Given the description of an element on the screen output the (x, y) to click on. 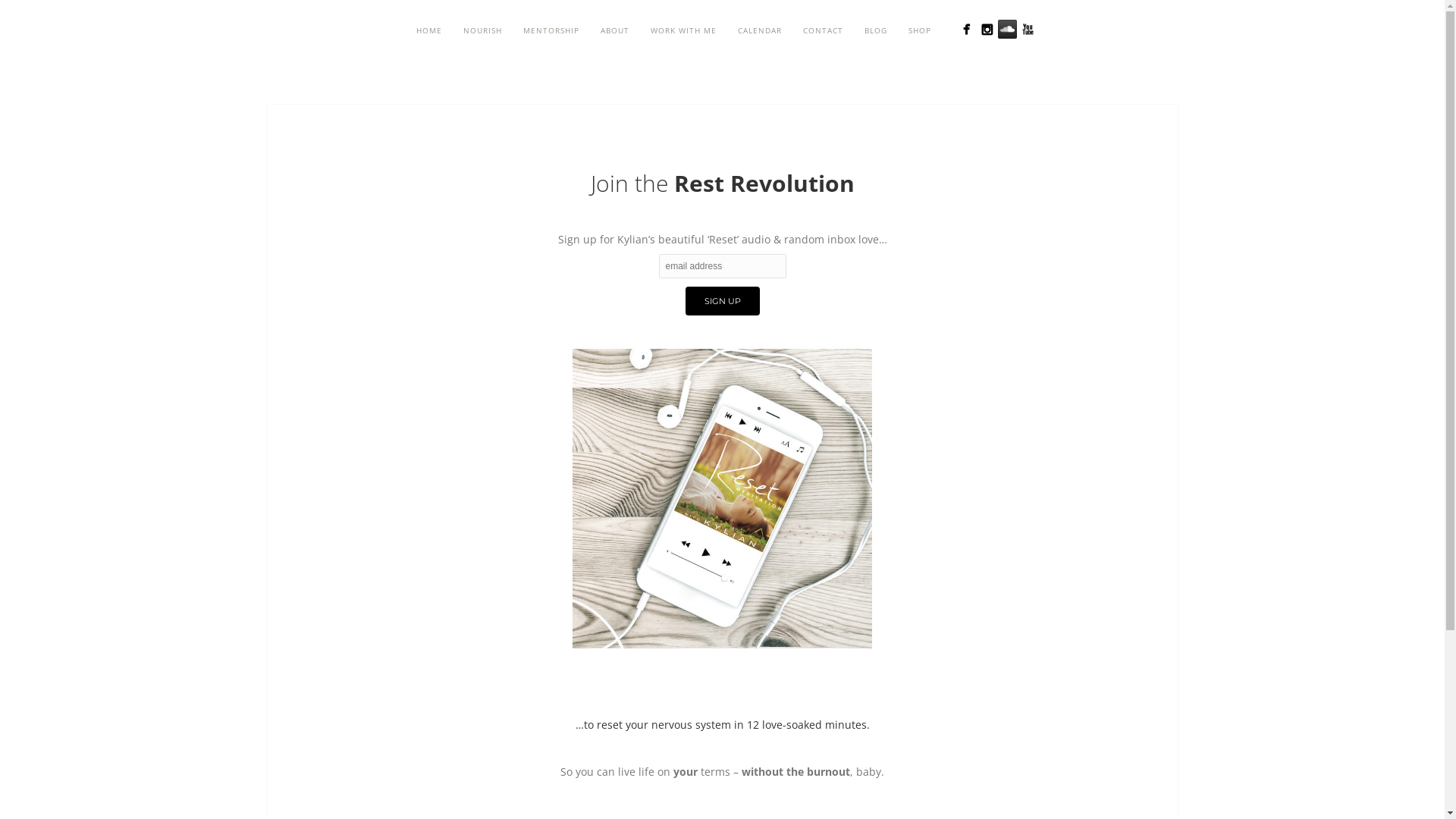
WORK WITH ME Element type: text (683, 30)
Sign up Element type: text (722, 300)
SHOP Element type: text (919, 30)
MENTORSHIP Element type: text (550, 30)
HOME Element type: text (428, 30)
Soundcloud Element type: hover (1006, 28)
Find KYLIAN on Facebook Element type: hover (966, 28)
BLOG Element type: text (875, 30)
CONTACT Element type: text (822, 30)
NOURISH Element type: text (482, 30)
CALENDAR Element type: text (759, 30)
ABOUT Element type: text (614, 30)
